Given the description of an element on the screen output the (x, y) to click on. 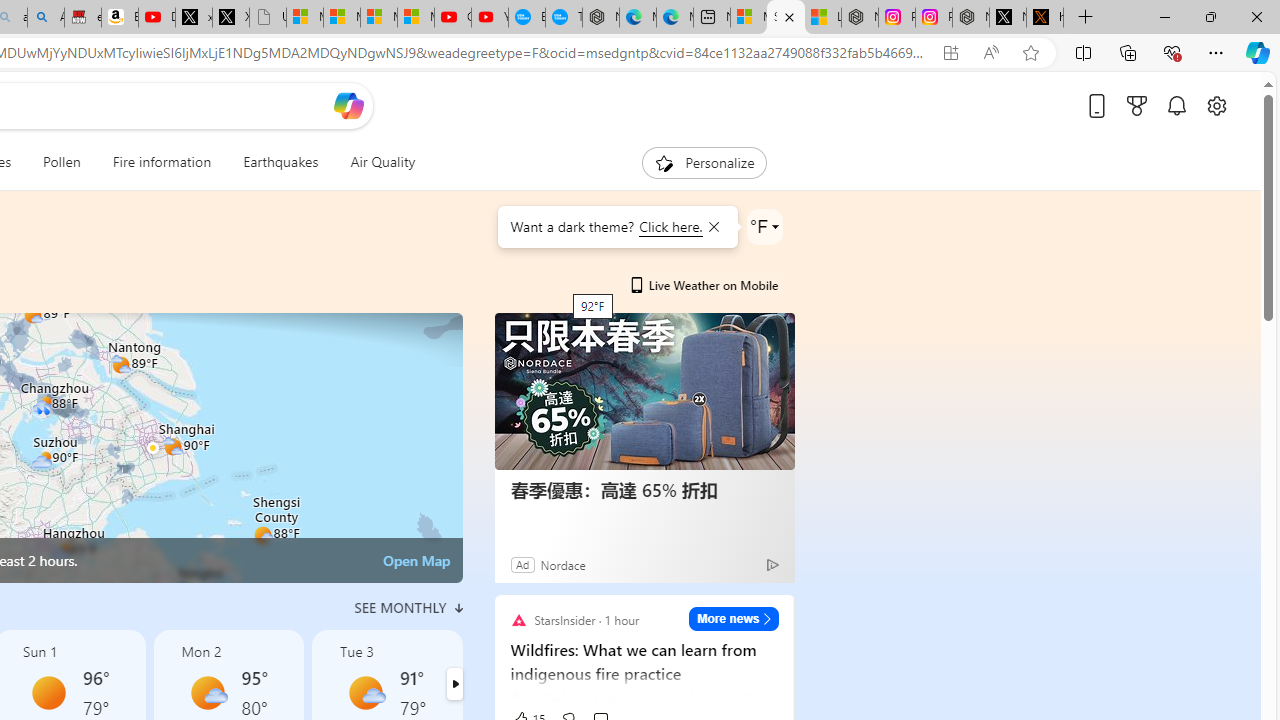
Pollen (61, 162)
